Given the description of an element on the screen output the (x, y) to click on. 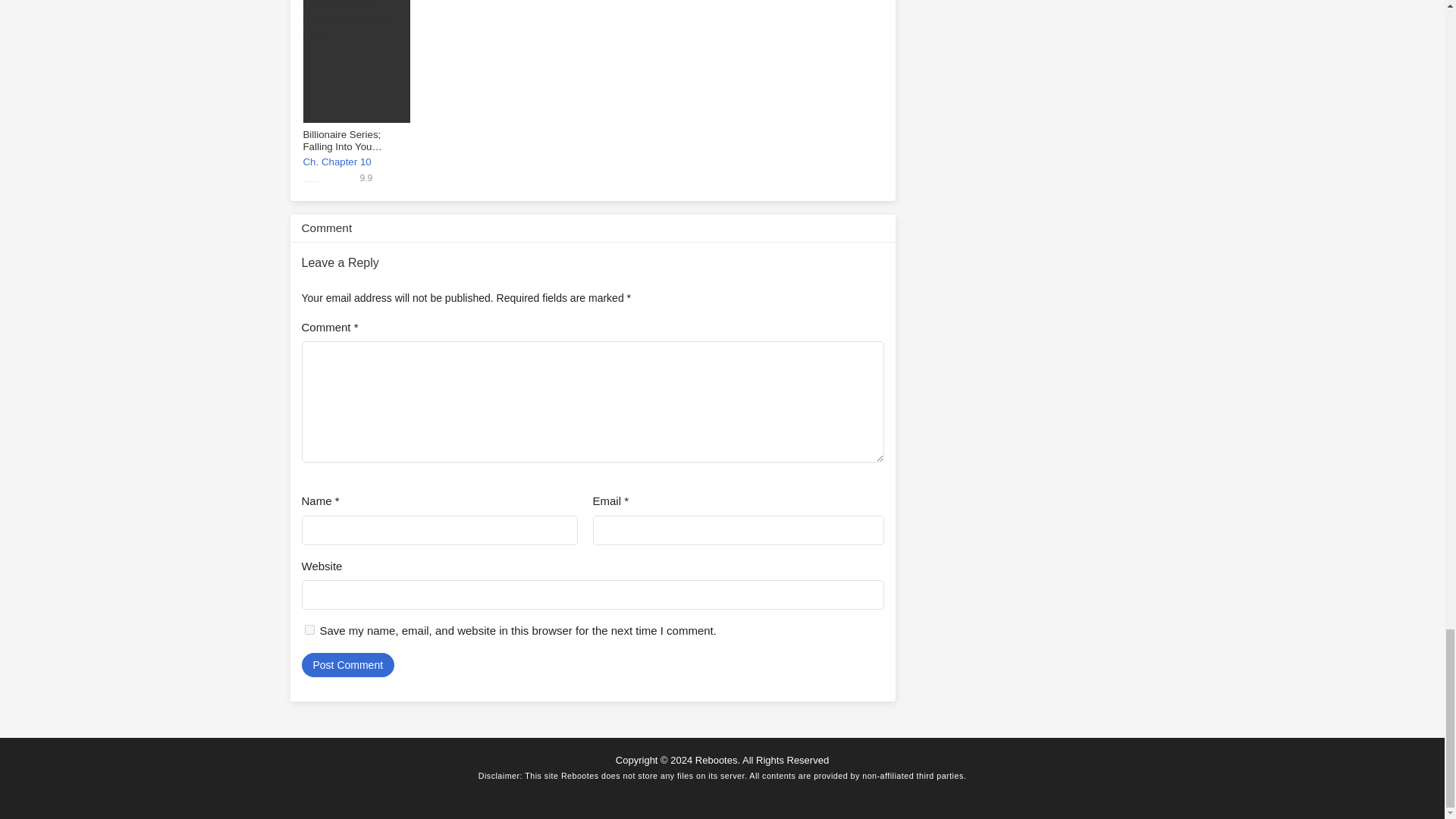
Post Comment (347, 664)
Post Comment (347, 664)
yes (309, 629)
